Given the description of an element on the screen output the (x, y) to click on. 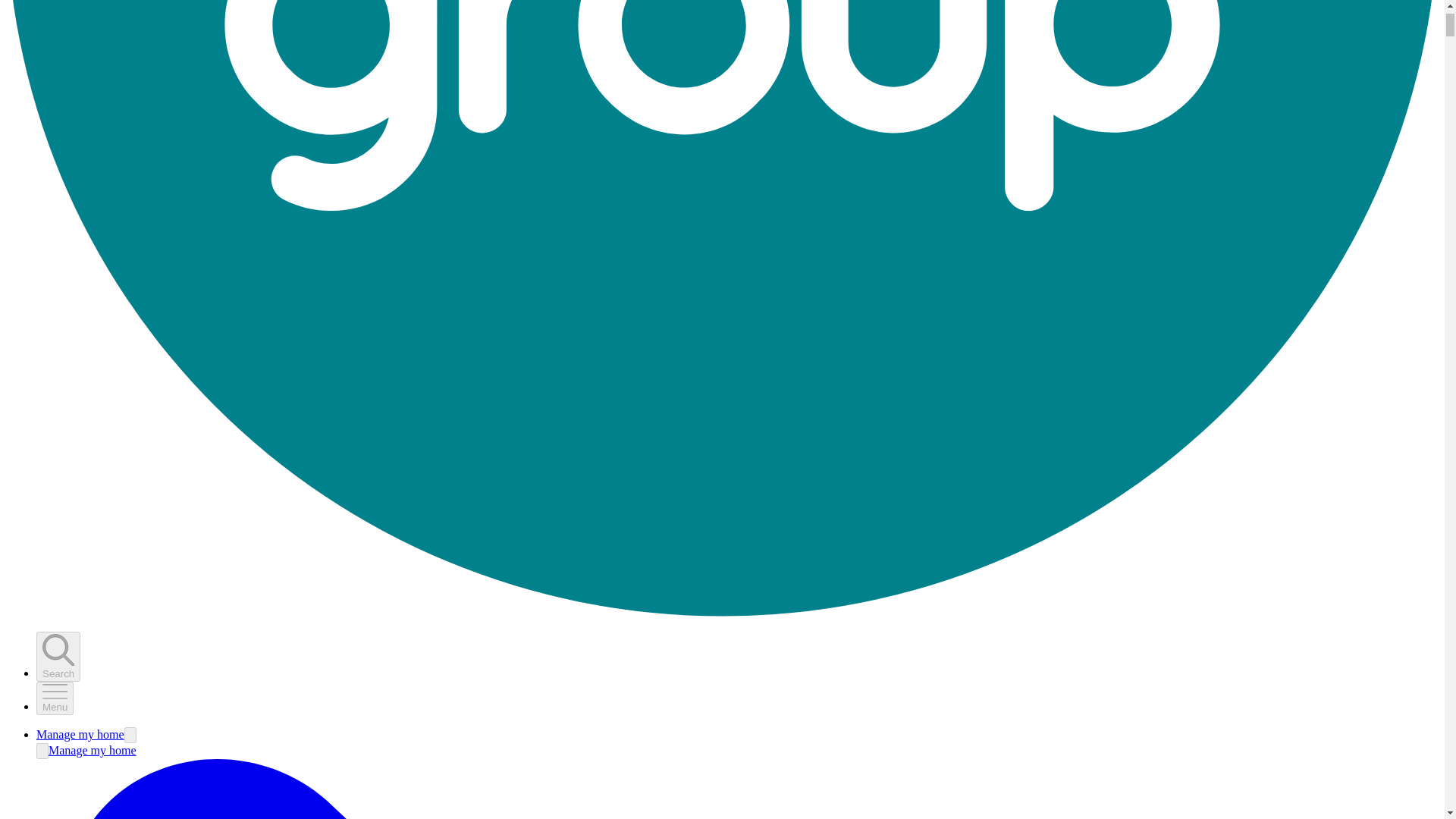
Manage my home (79, 734)
Manage my home (92, 749)
Menu (55, 697)
